Given the description of an element on the screen output the (x, y) to click on. 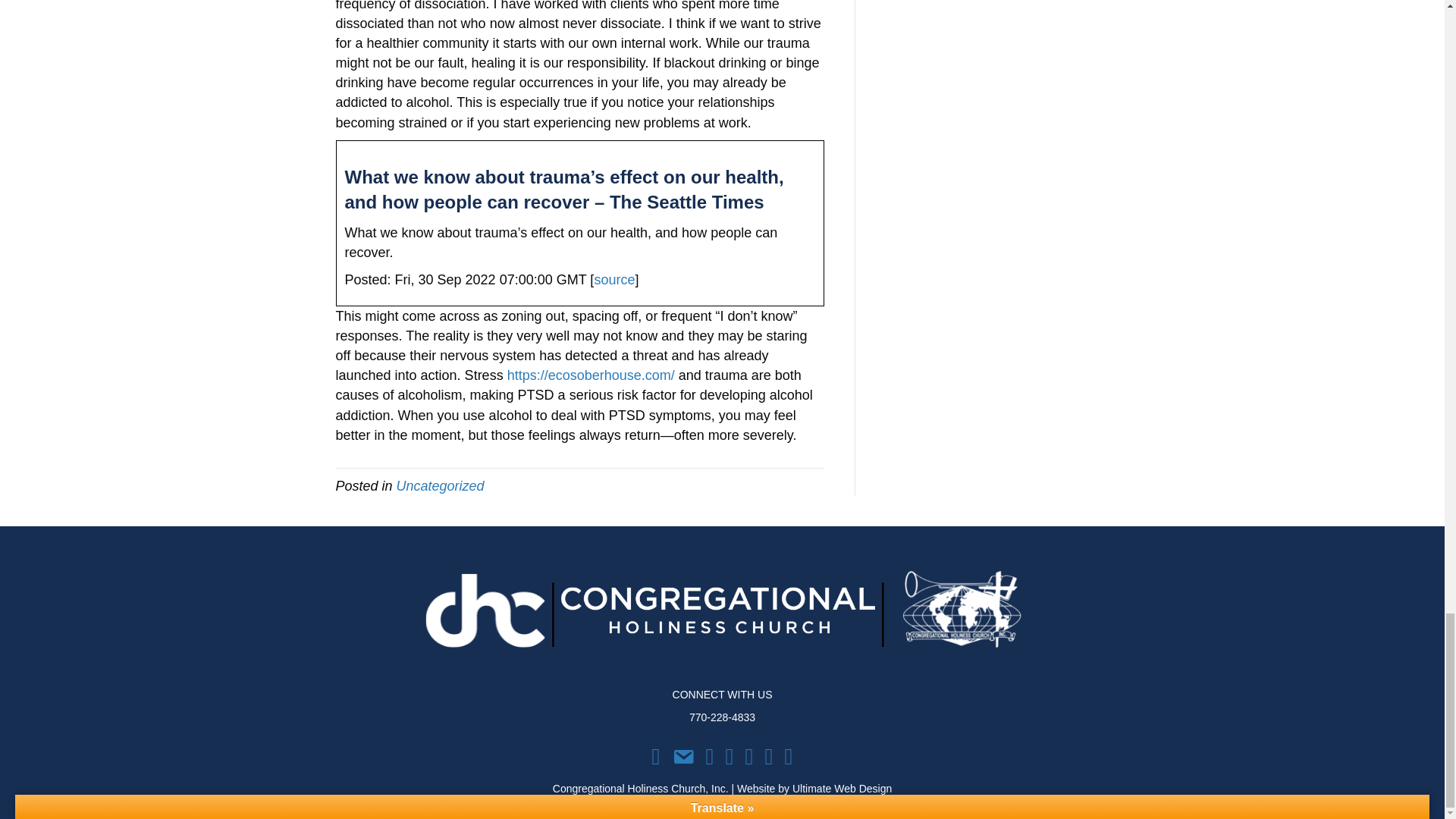
Untitled design-10 (721, 613)
